Given the description of an element on the screen output the (x, y) to click on. 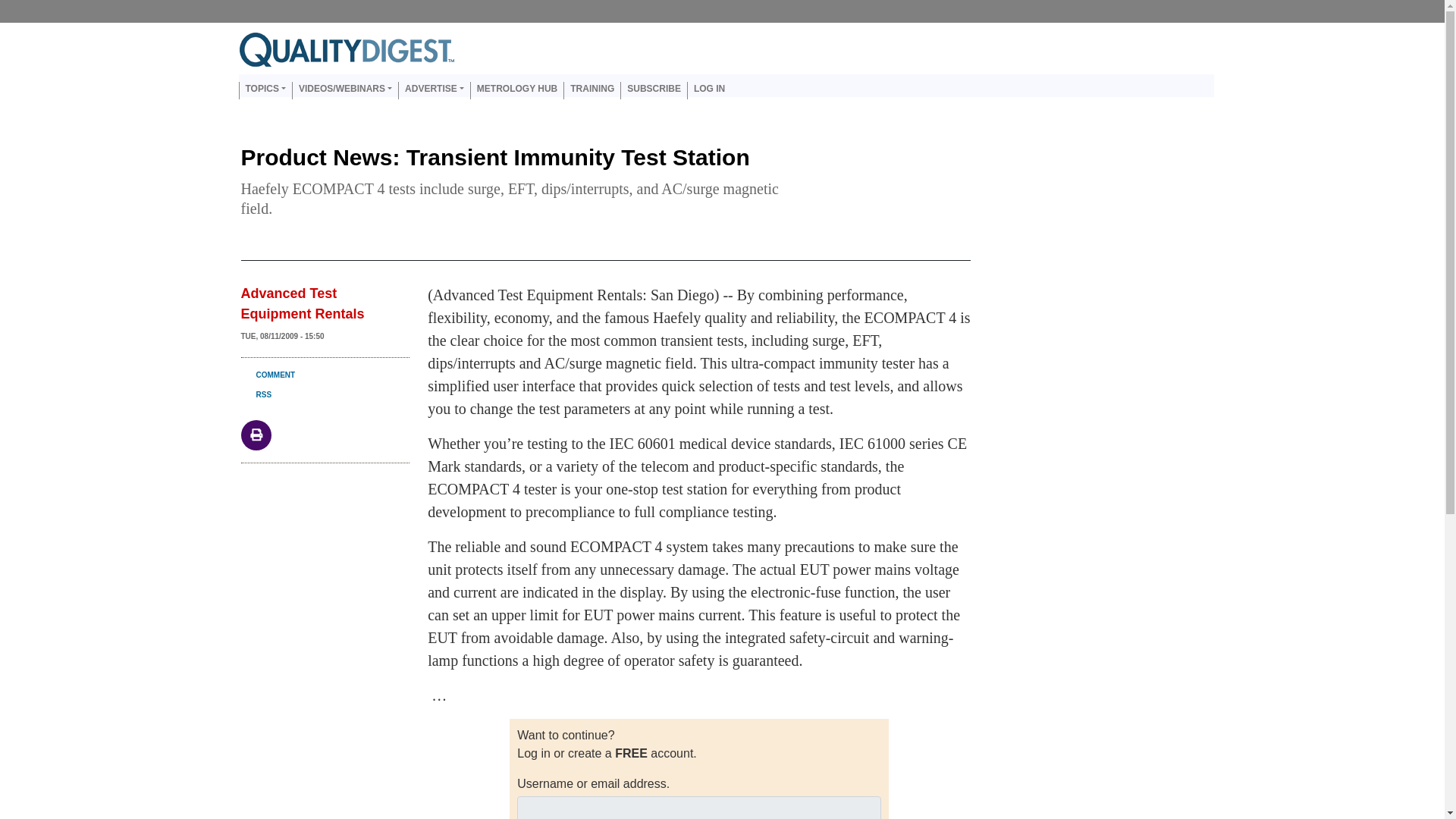
LOG IN (708, 90)
Expand menu Advertise (433, 90)
SUBSCRIBE (653, 90)
Expand menu Topics (265, 90)
Print (255, 433)
Contribute a comment to this article (268, 374)
TRAINING (591, 90)
METROLOGY HUB (516, 90)
